Given the description of an element on the screen output the (x, y) to click on. 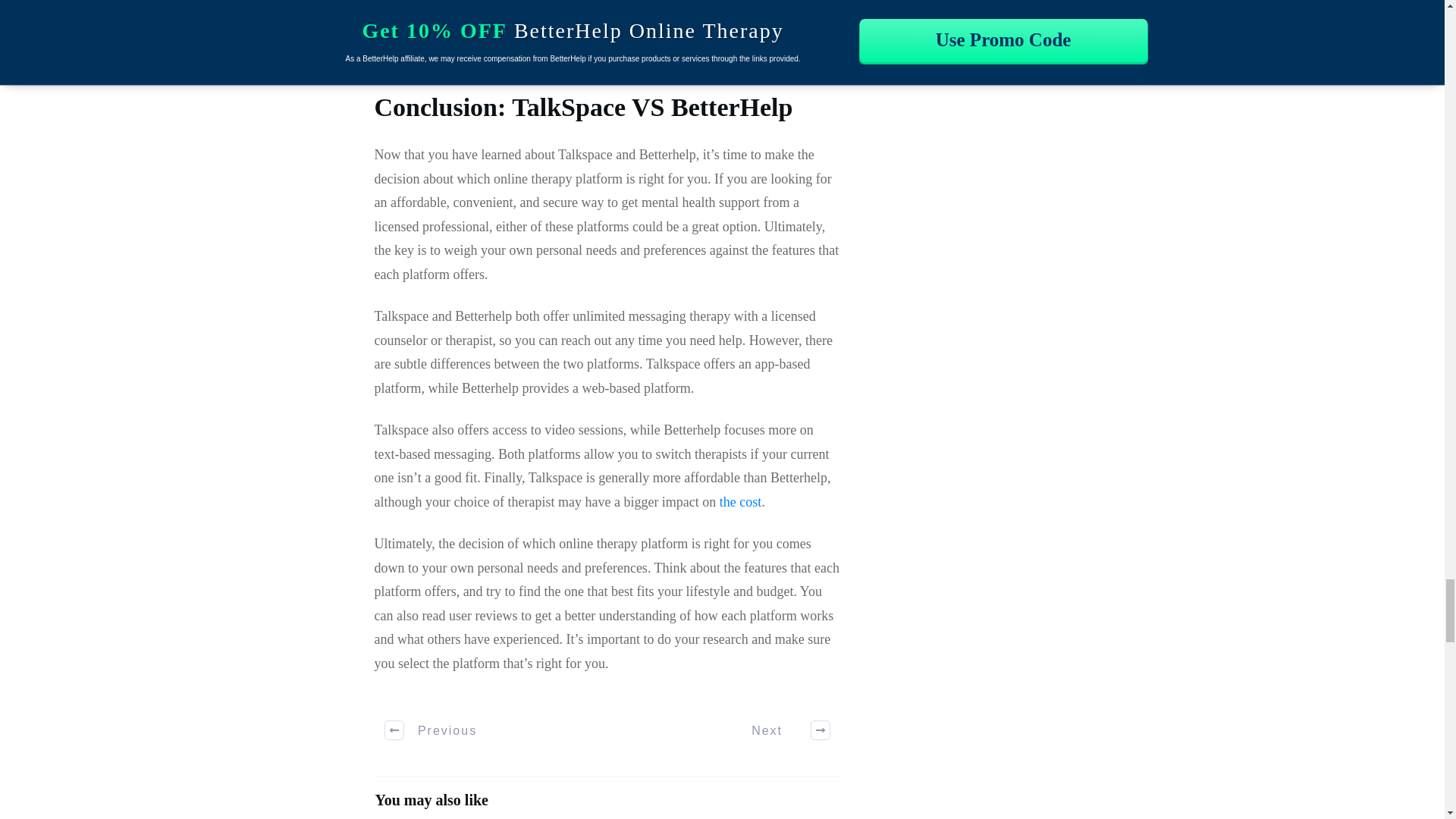
the cost (740, 501)
Previous (430, 730)
Next (782, 730)
